Given the description of an element on the screen output the (x, y) to click on. 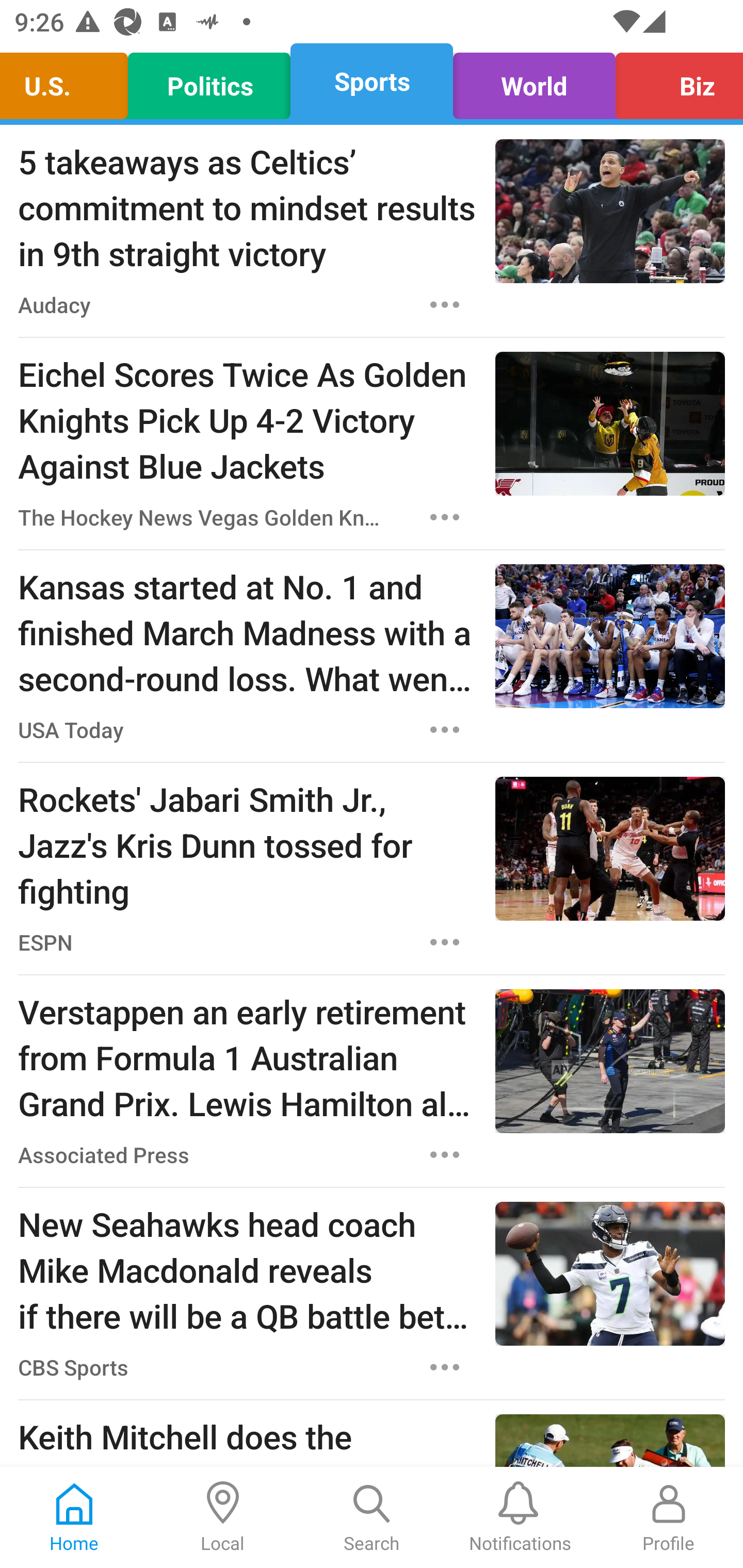
U.S. (69, 81)
Politics (209, 81)
Sports (371, 81)
World (534, 81)
Biz (673, 81)
Options (444, 304)
Options (444, 517)
Options (444, 729)
Options (444, 942)
Options (444, 1154)
Options (444, 1367)
Local (222, 1517)
Search (371, 1517)
Notifications (519, 1517)
Profile (668, 1517)
